Given the description of an element on the screen output the (x, y) to click on. 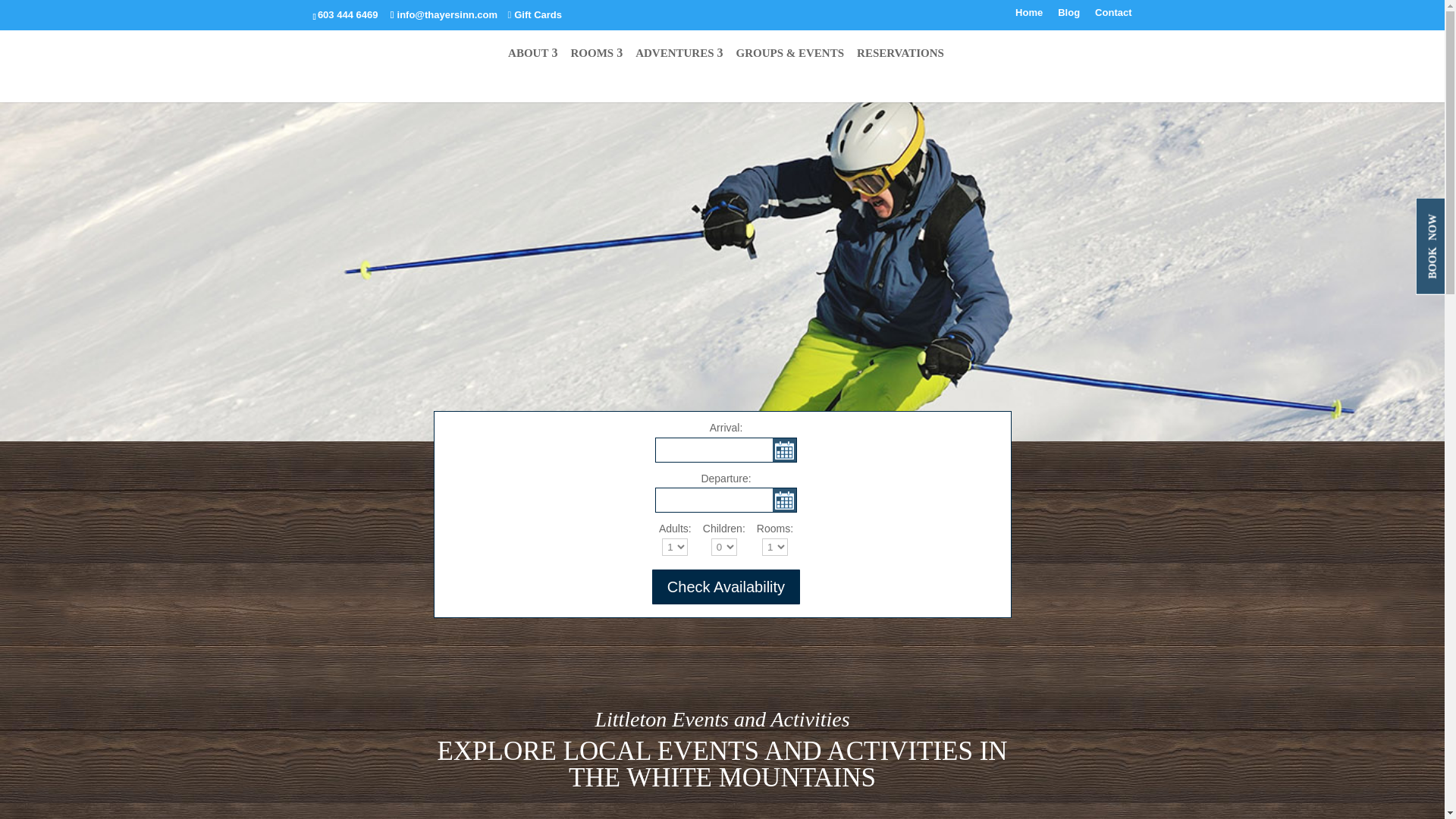
Gift Cards (530, 14)
Contact (1112, 16)
Home (1028, 16)
ROOMS (596, 65)
RESERVATIONS (900, 65)
ABOUT (532, 65)
Check Availability (726, 587)
Blog (1069, 16)
603 444 6469 (347, 14)
ADVENTURES (678, 65)
